Given the description of an element on the screen output the (x, y) to click on. 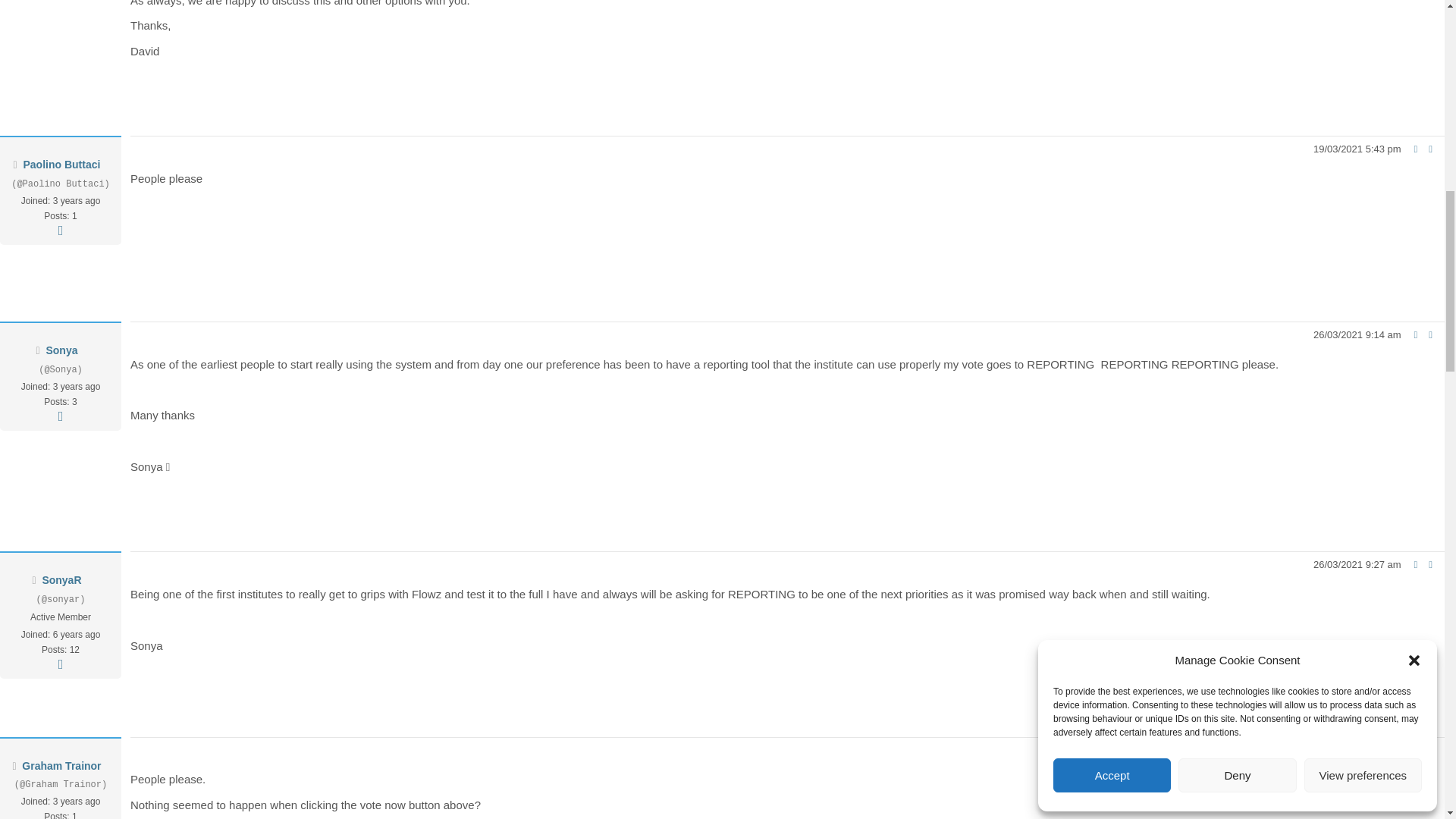
Paolino Buttaci (61, 164)
